Given the description of an element on the screen output the (x, y) to click on. 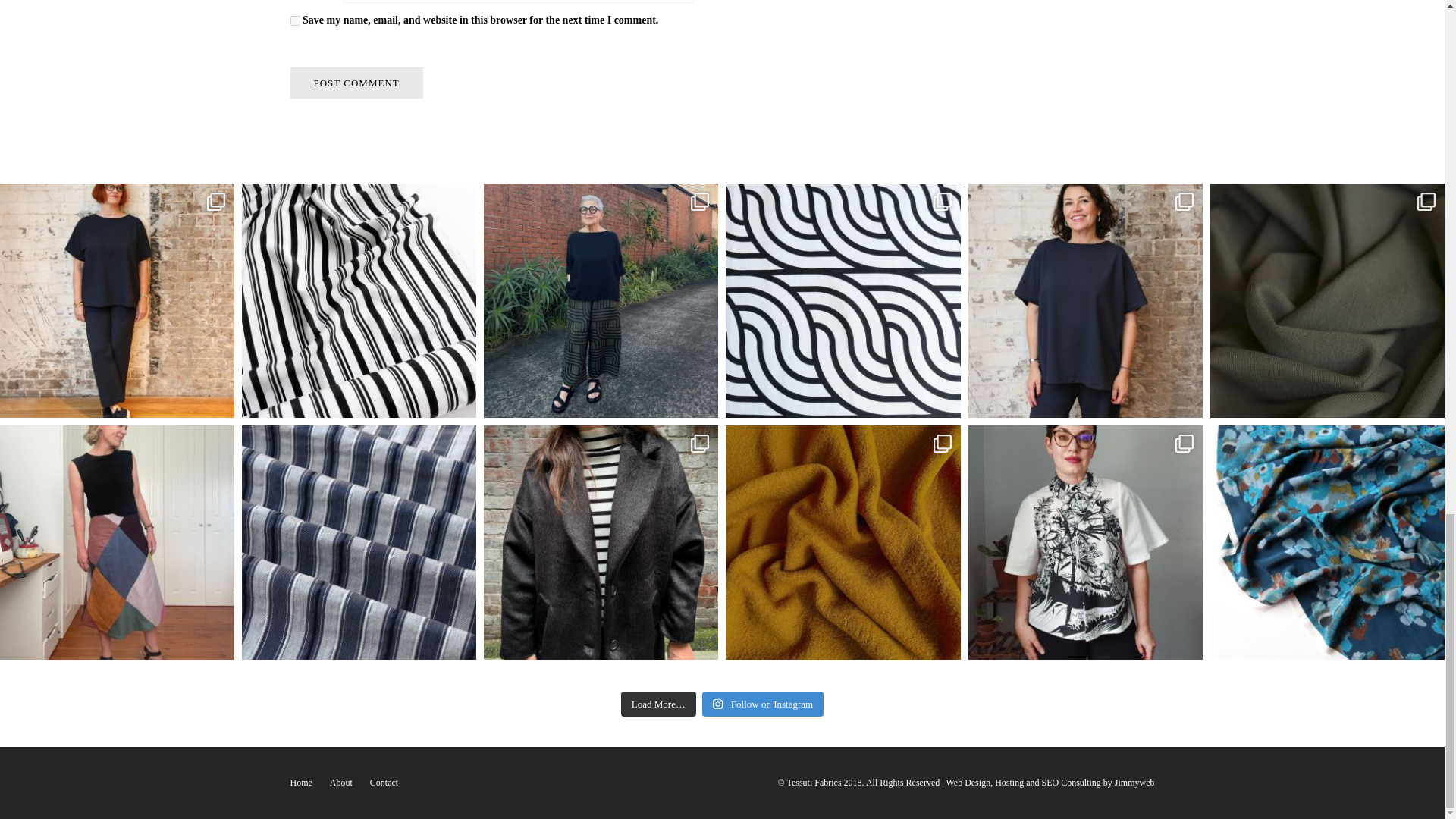
Post comment (355, 82)
yes (294, 20)
